Given the description of an element on the screen output the (x, y) to click on. 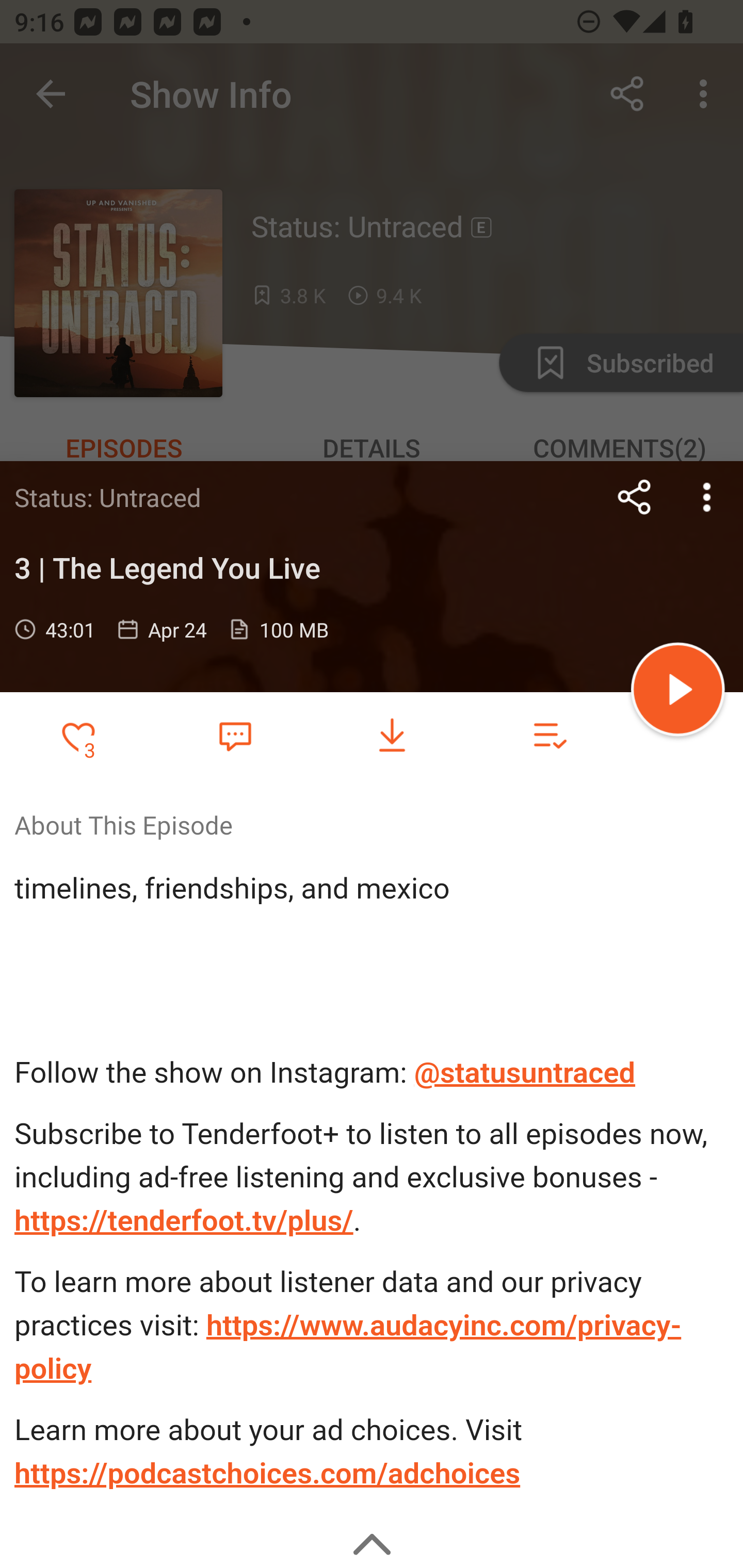
Share (634, 496)
more options (706, 496)
Play (677, 692)
Favorite (234, 735)
Add to Favorites (78, 735)
Download (391, 735)
Add to playlist (548, 735)
@statusuntraced (525, 1073)
https://tenderfoot.tv/plus/ (183, 1220)
https://www.audacyinc.com/privacy-policy (348, 1347)
https://podcastchoices.com/adchoices (267, 1473)
